Given the description of an element on the screen output the (x, y) to click on. 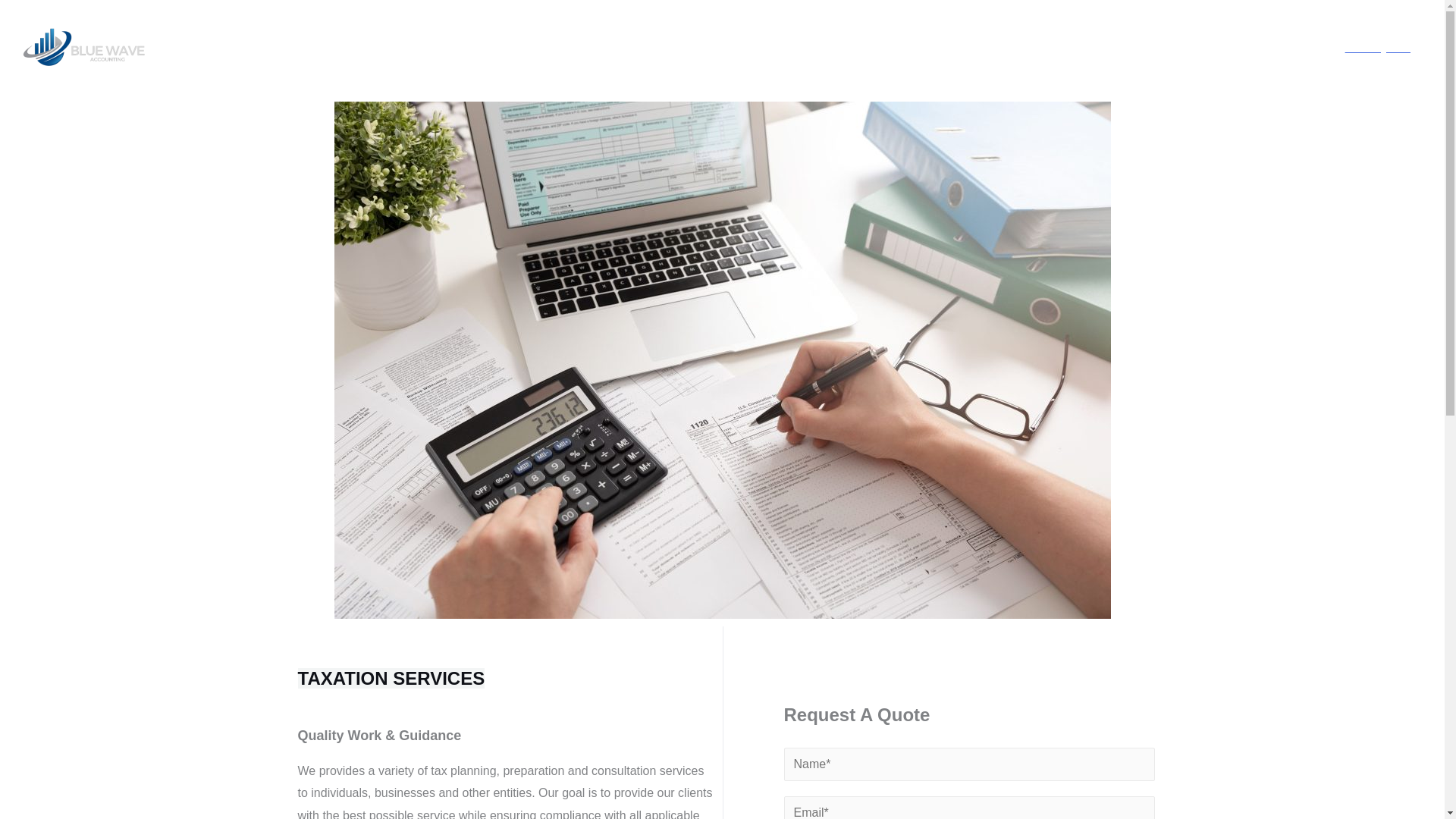
Get A Quote (1377, 47)
Home (1018, 46)
Contact (1135, 46)
Services (1209, 46)
About (1074, 46)
Pricing (1280, 46)
